Given the description of an element on the screen output the (x, y) to click on. 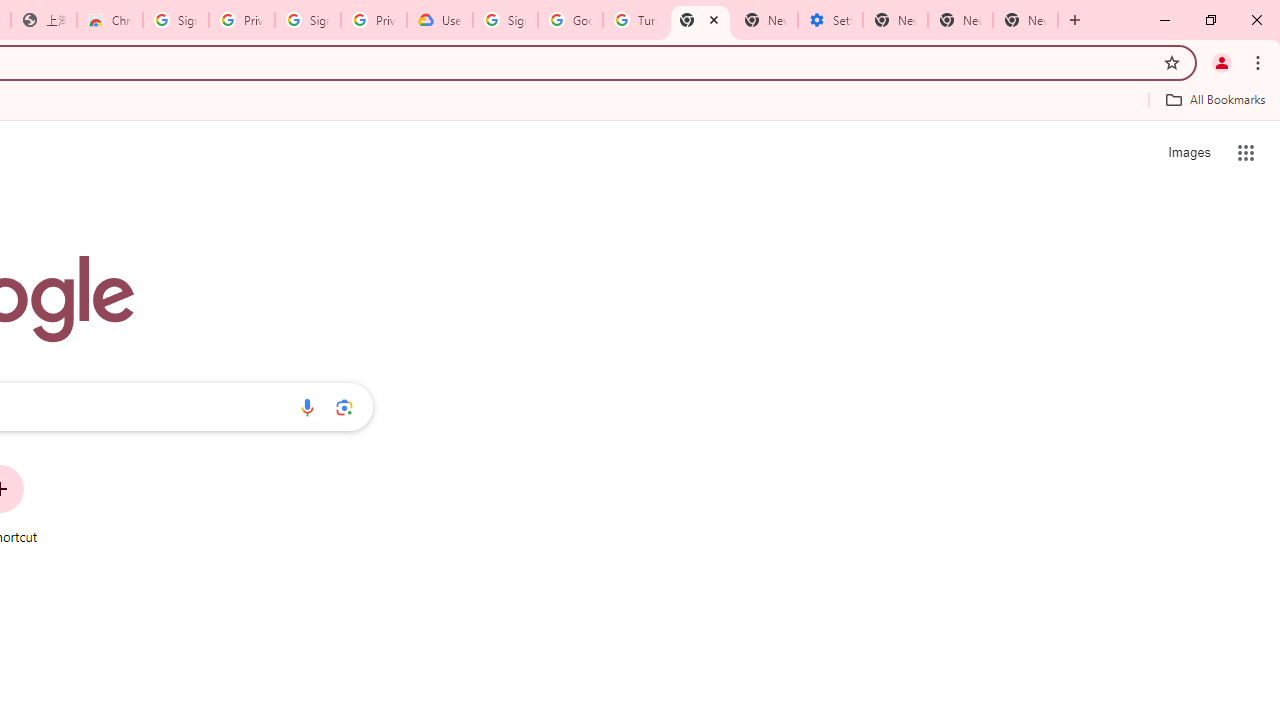
New Tab (1025, 20)
Sign in - Google Accounts (175, 20)
Sign in - Google Accounts (504, 20)
Google Account Help (569, 20)
Settings - System (829, 20)
